Given the description of an element on the screen output the (x, y) to click on. 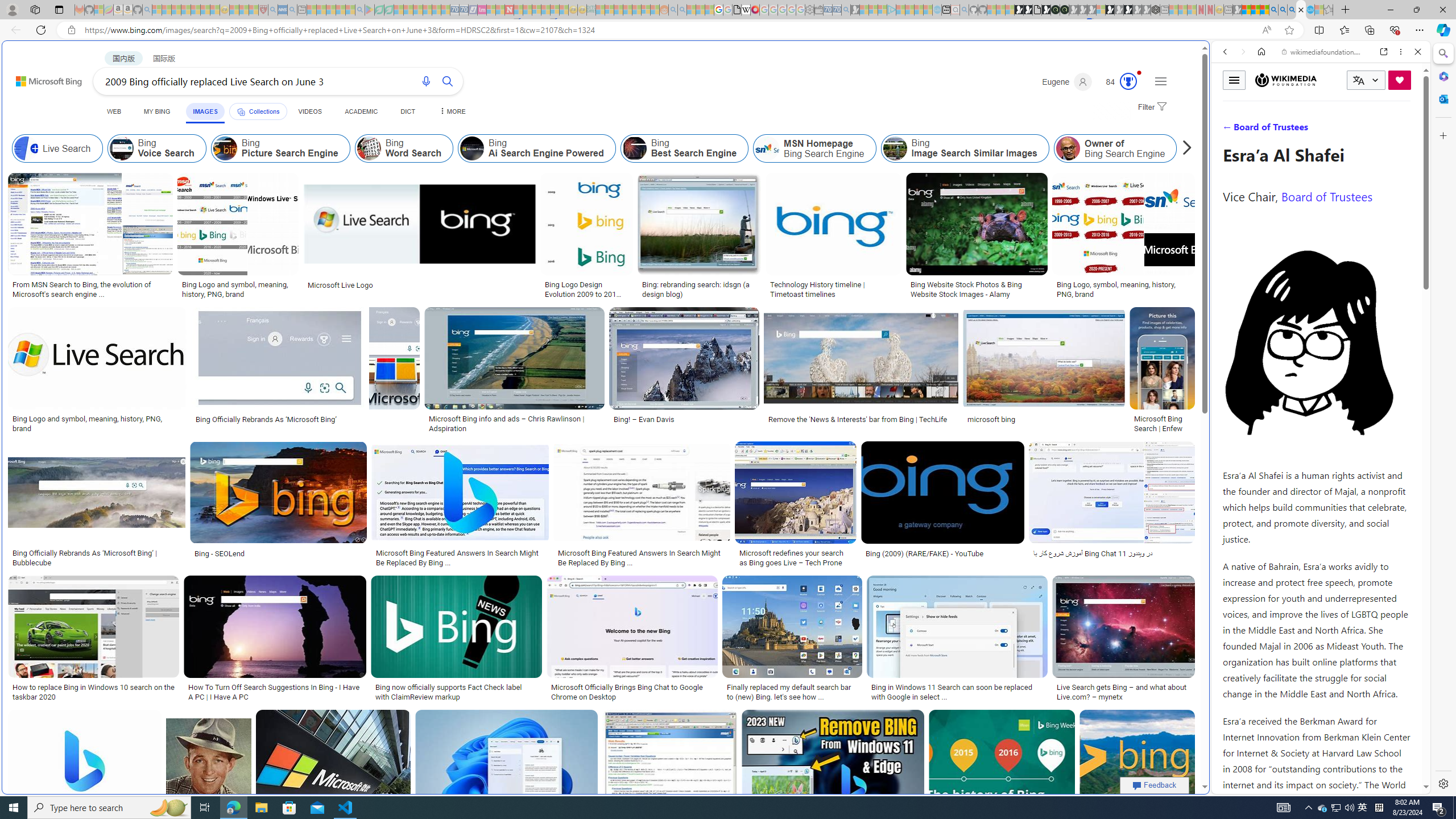
DICT (407, 111)
Bing (2009) (RARE/FAKE) - YouTubeSave (944, 505)
Web scope (1230, 102)
Bing Logo and symbol, meaning, history, PNG, brand (97, 423)
Bing Ai Search Engine Powered (536, 148)
Bing (2009) (RARE/FAKE) - YouTube (925, 552)
WEB (114, 111)
Https Bing Search Q MSN (1195, 148)
